Given the description of an element on the screen output the (x, y) to click on. 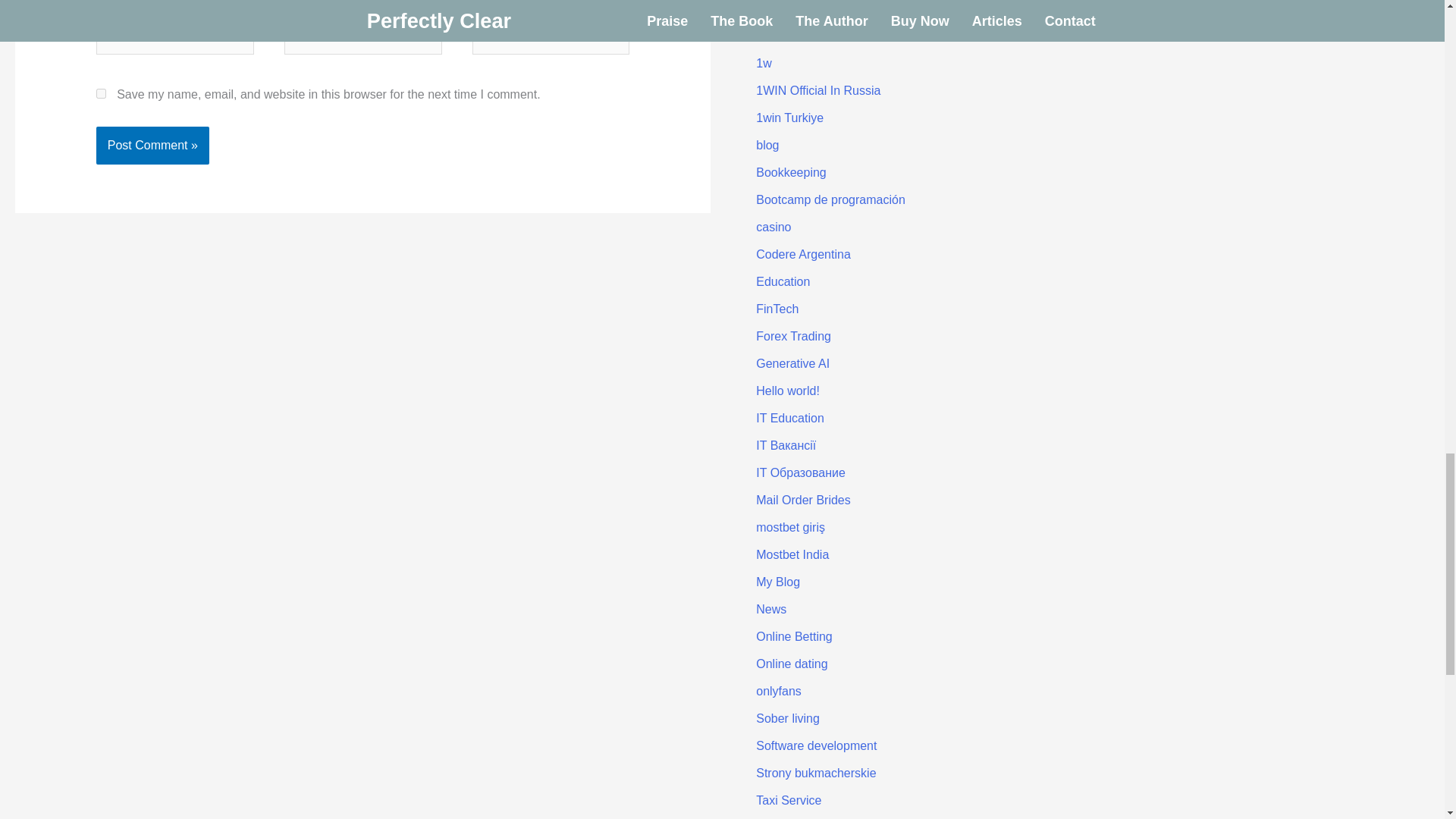
yes (101, 93)
